Given the description of an element on the screen output the (x, y) to click on. 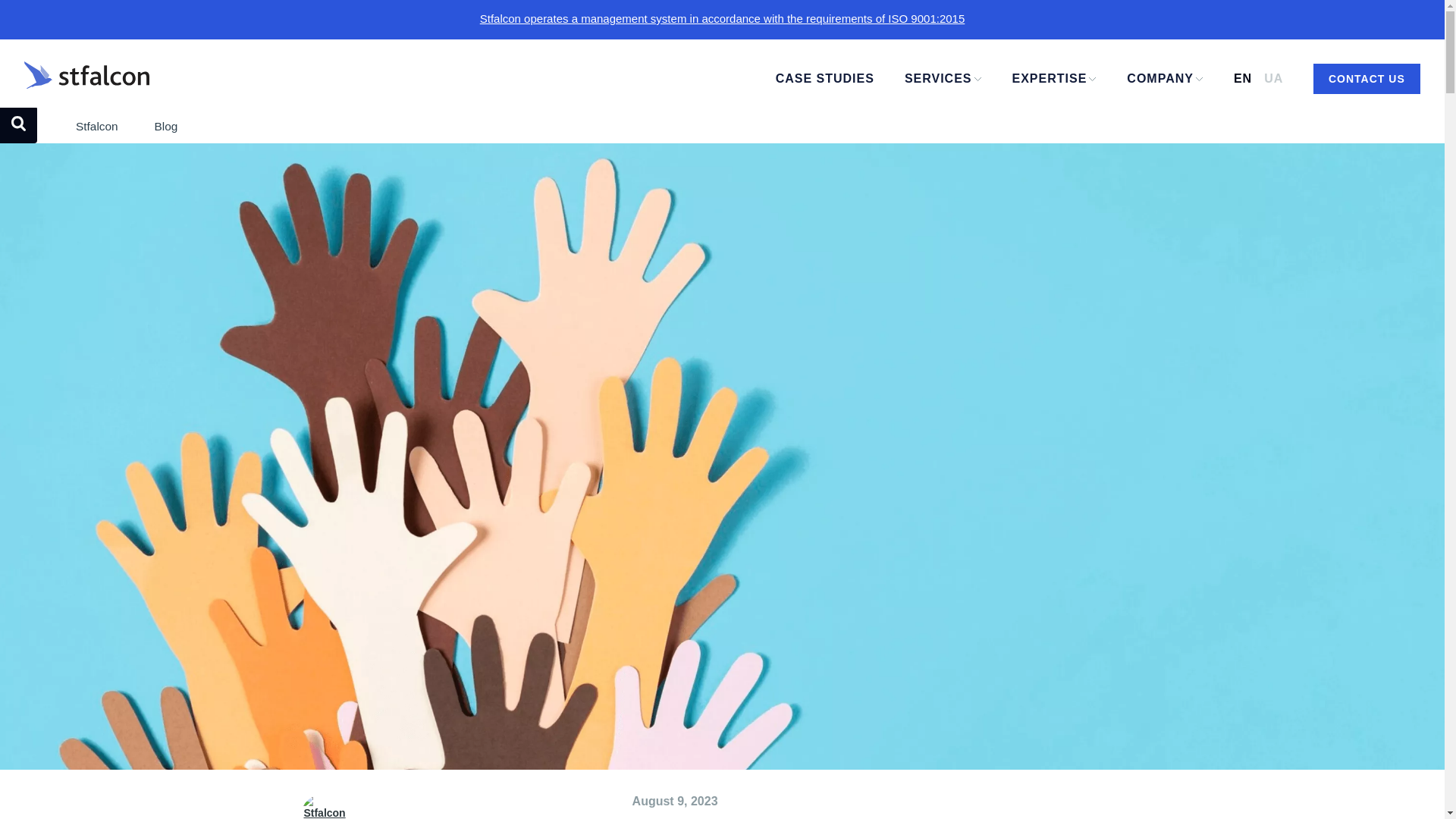
stfalcon.com (400, 78)
Blog (165, 126)
CASE STUDIES (825, 78)
Stfalcon (96, 126)
